Given the description of an element on the screen output the (x, y) to click on. 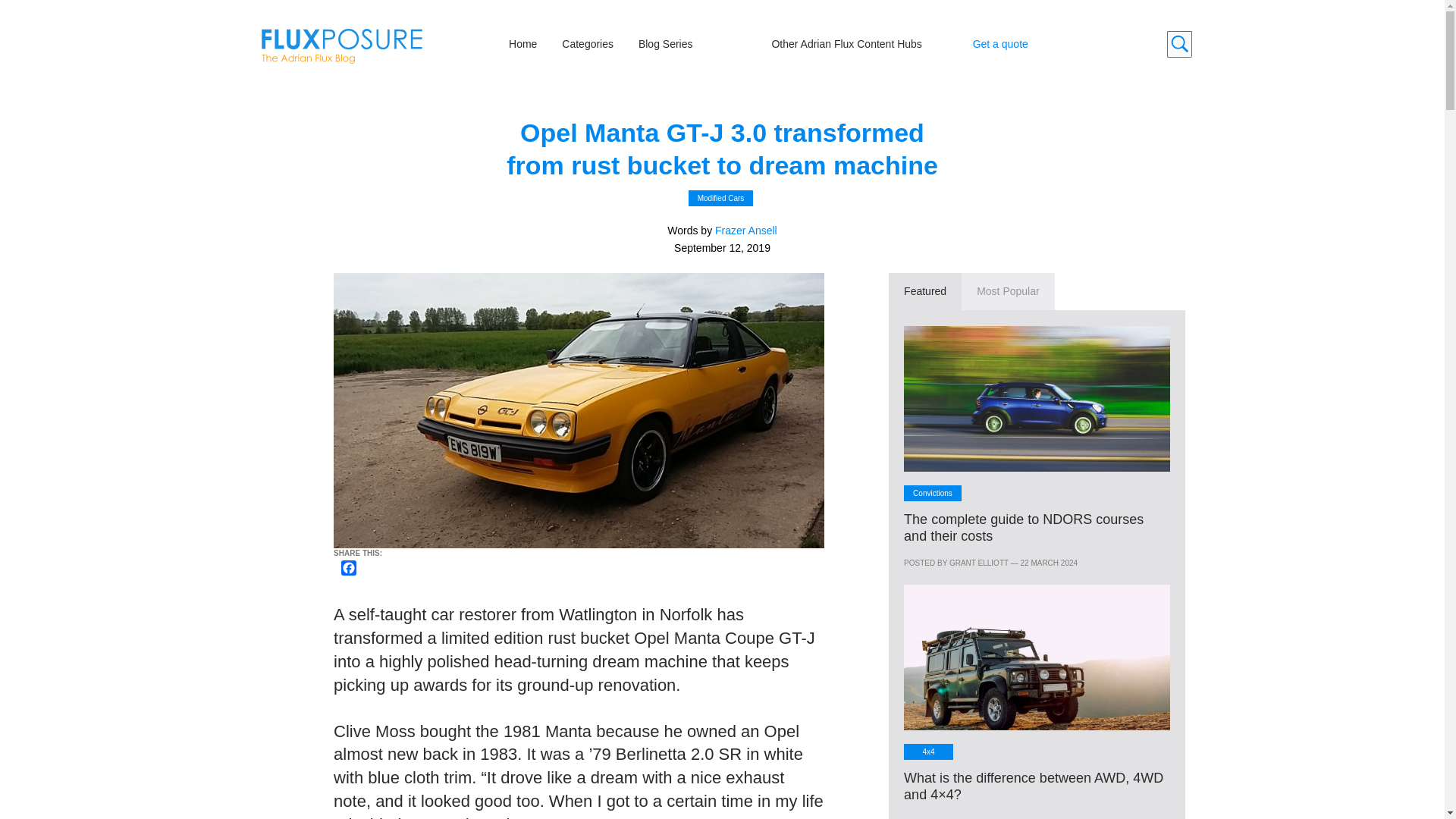
Facebook (349, 569)
The complete guide to NDORS courses and their costs (1023, 527)
Blog Series (666, 43)
Other Adrian Flux Content Hubs (846, 43)
Get a quote (999, 43)
Home (522, 43)
Categories (587, 43)
Posts by Frazer Ansell (745, 230)
Posts by Grant Elliott (979, 562)
